Given the description of an element on the screen output the (x, y) to click on. 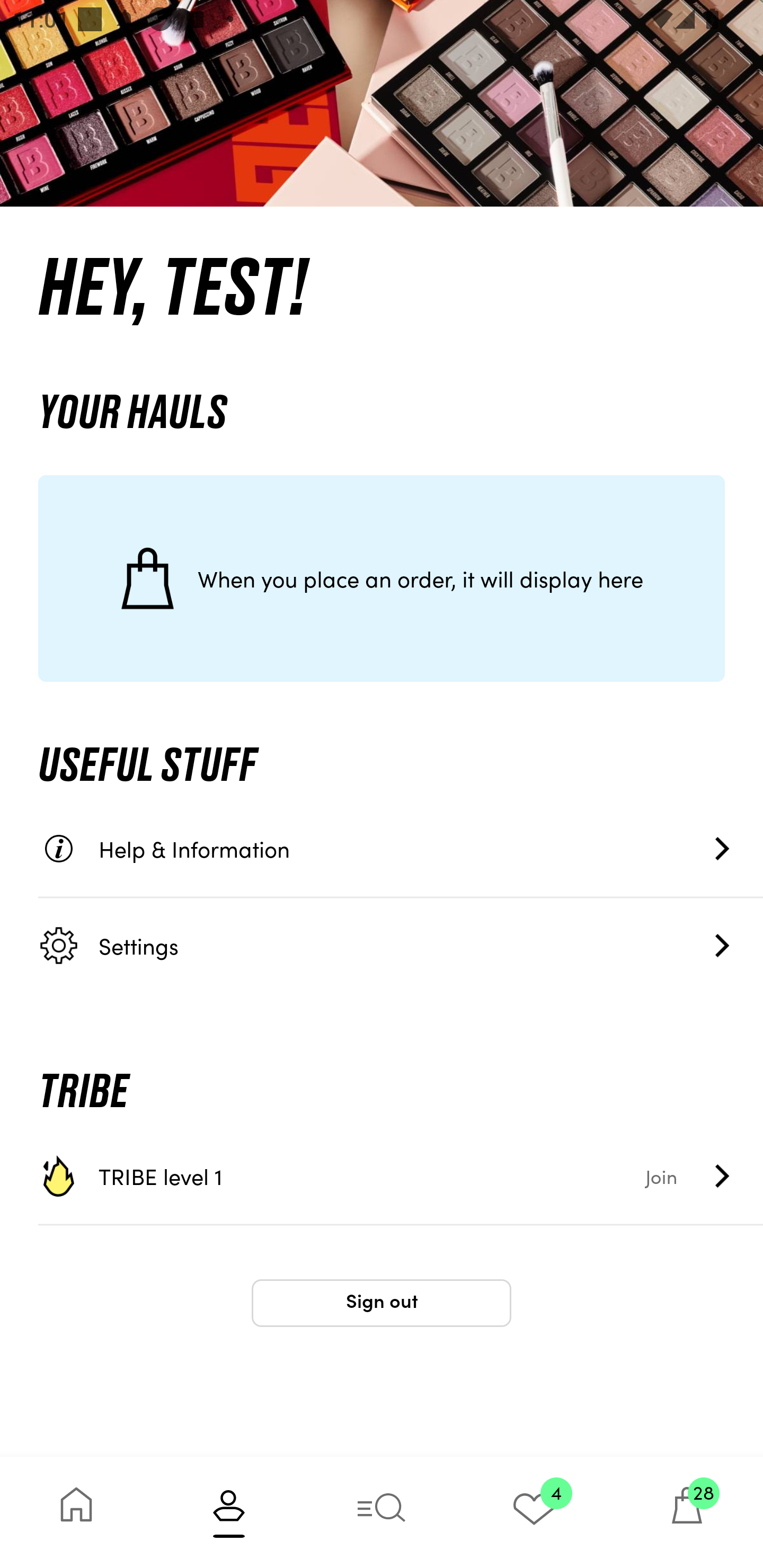
Help & Information (400, 848)
Settings (400, 945)
TRIBE level 1 Join (400, 1175)
Sign out (381, 1302)
4 (533, 1512)
28 (686, 1512)
